Given the description of an element on the screen output the (x, y) to click on. 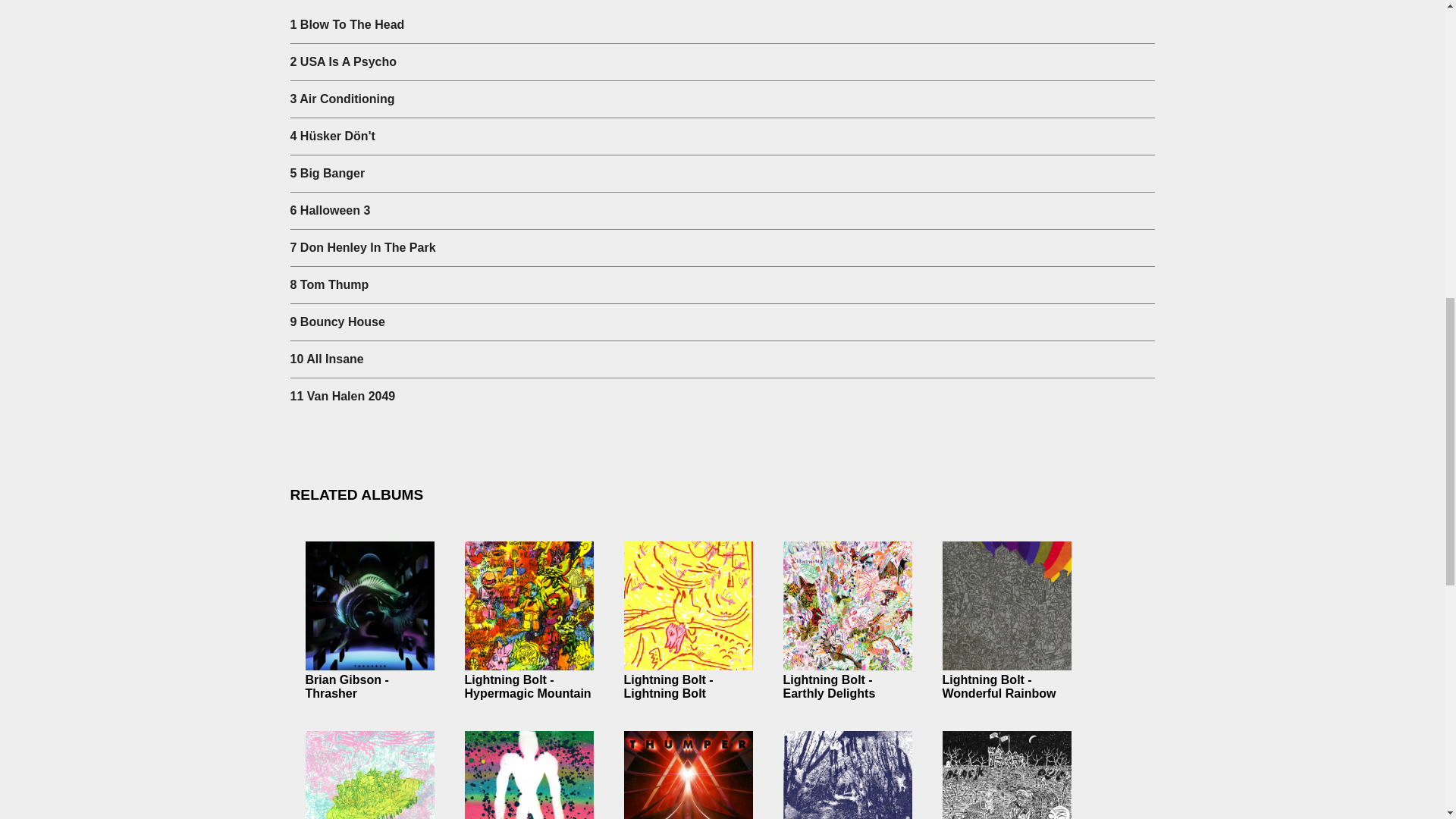
Lightning Bolt - Lightning Bolt (668, 686)
Lightning Bolt - Earthly Delights (829, 686)
Lightning Bolt - Wonderful Rainbow (998, 686)
Lightning Bolt - Hypermagic Mountain (527, 686)
Brian Gibson - Thrasher (346, 686)
